Given the description of an element on the screen output the (x, y) to click on. 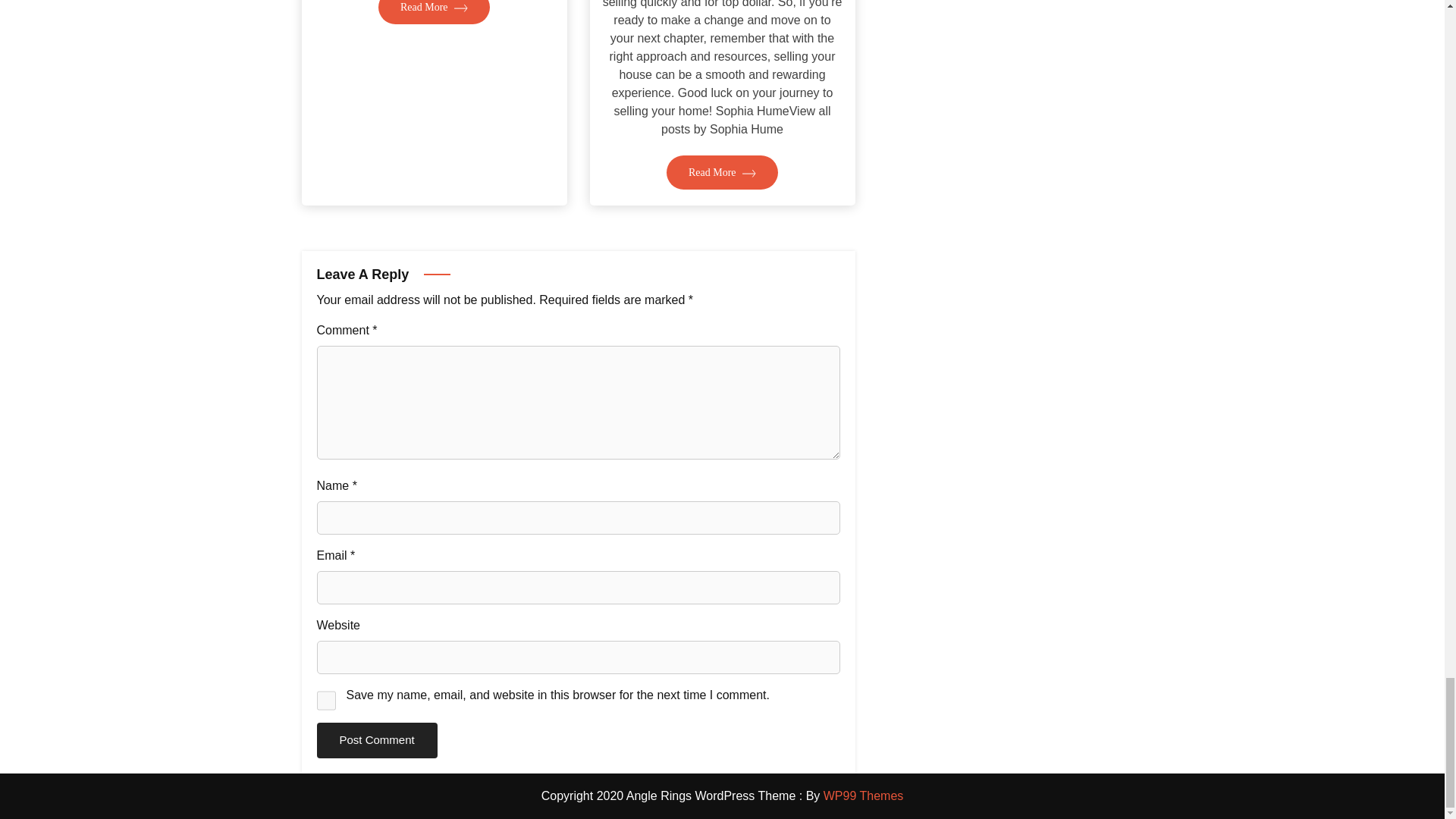
Read More (721, 172)
yes (326, 700)
Read More (433, 12)
Post Comment (377, 740)
